Given the description of an element on the screen output the (x, y) to click on. 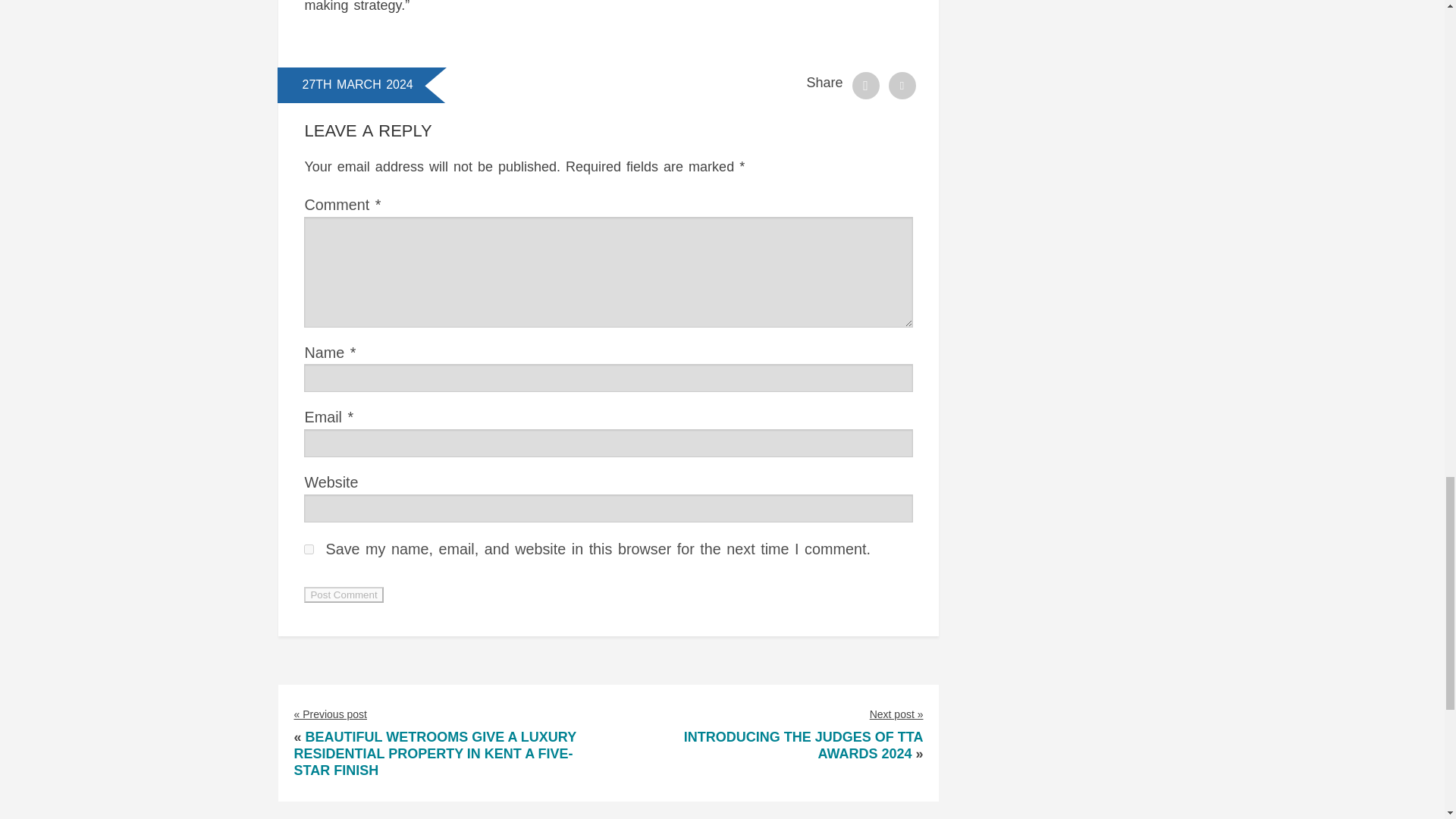
INTRODUCING THE JUDGES OF TTA AWARDS 2024 (803, 745)
Post Comment (343, 594)
yes (309, 549)
Post Comment (343, 594)
27TH MARCH 2024 (356, 83)
